Given the description of an element on the screen output the (x, y) to click on. 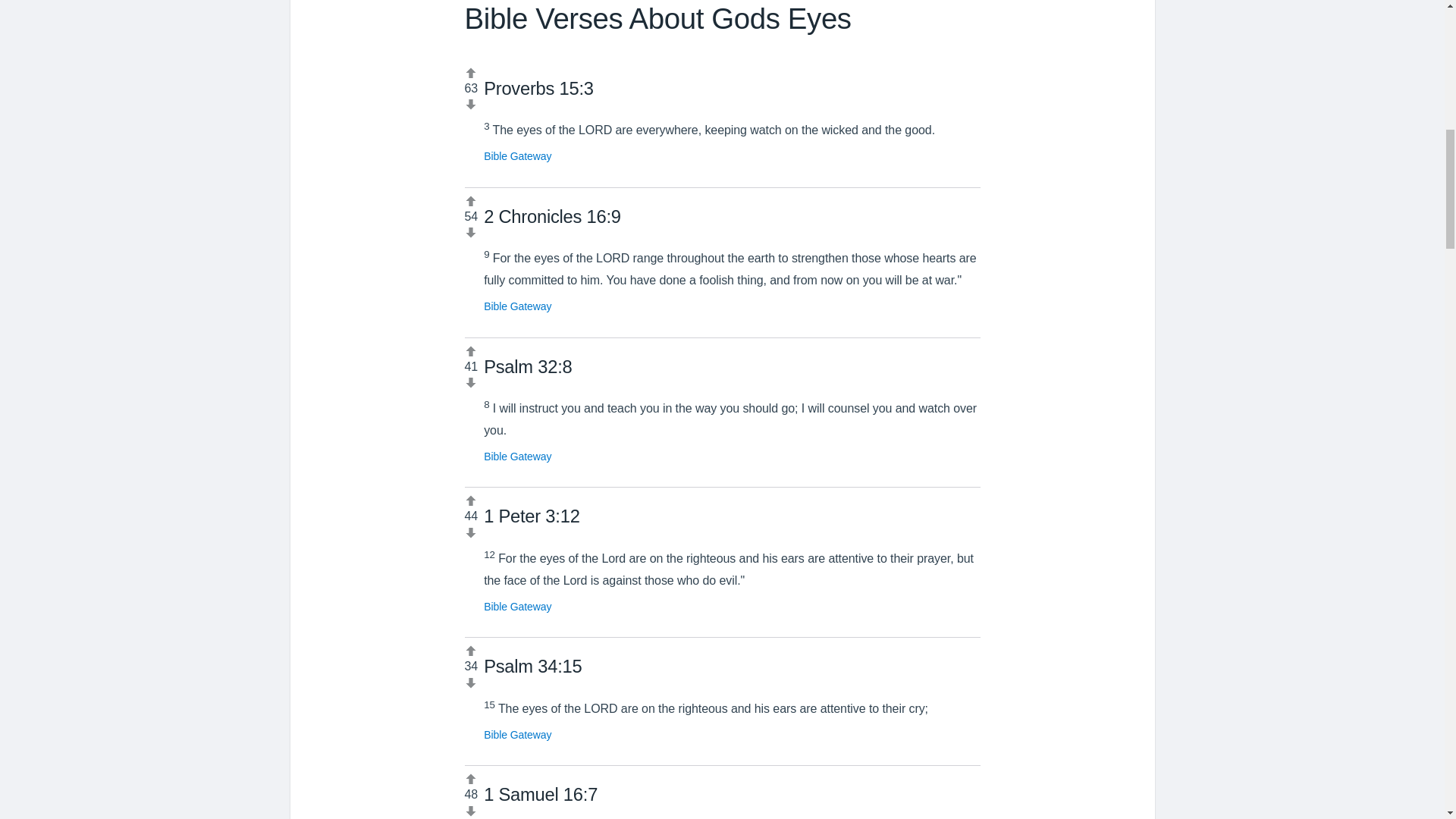
Bible Gateway (517, 155)
Bible Gateway (517, 306)
Bible Gateway (517, 456)
Bible Gateway (517, 606)
Bible Gateway (517, 734)
